Given the description of an element on the screen output the (x, y) to click on. 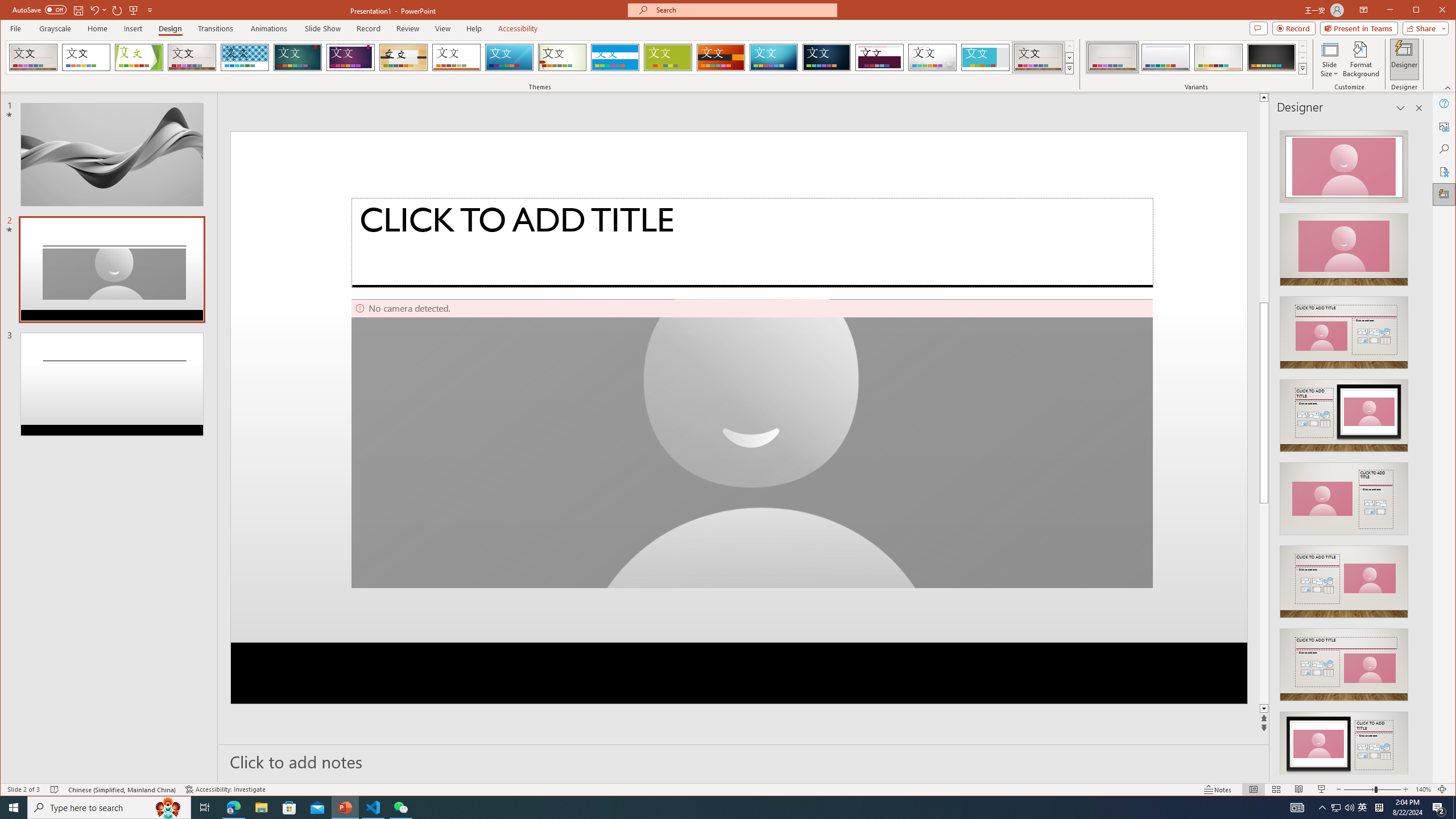
Wisp (561, 57)
Camera 4, No camera detected. (752, 443)
Page up (1263, 201)
Organic (403, 57)
Banded (615, 57)
